Given the description of an element on the screen output the (x, y) to click on. 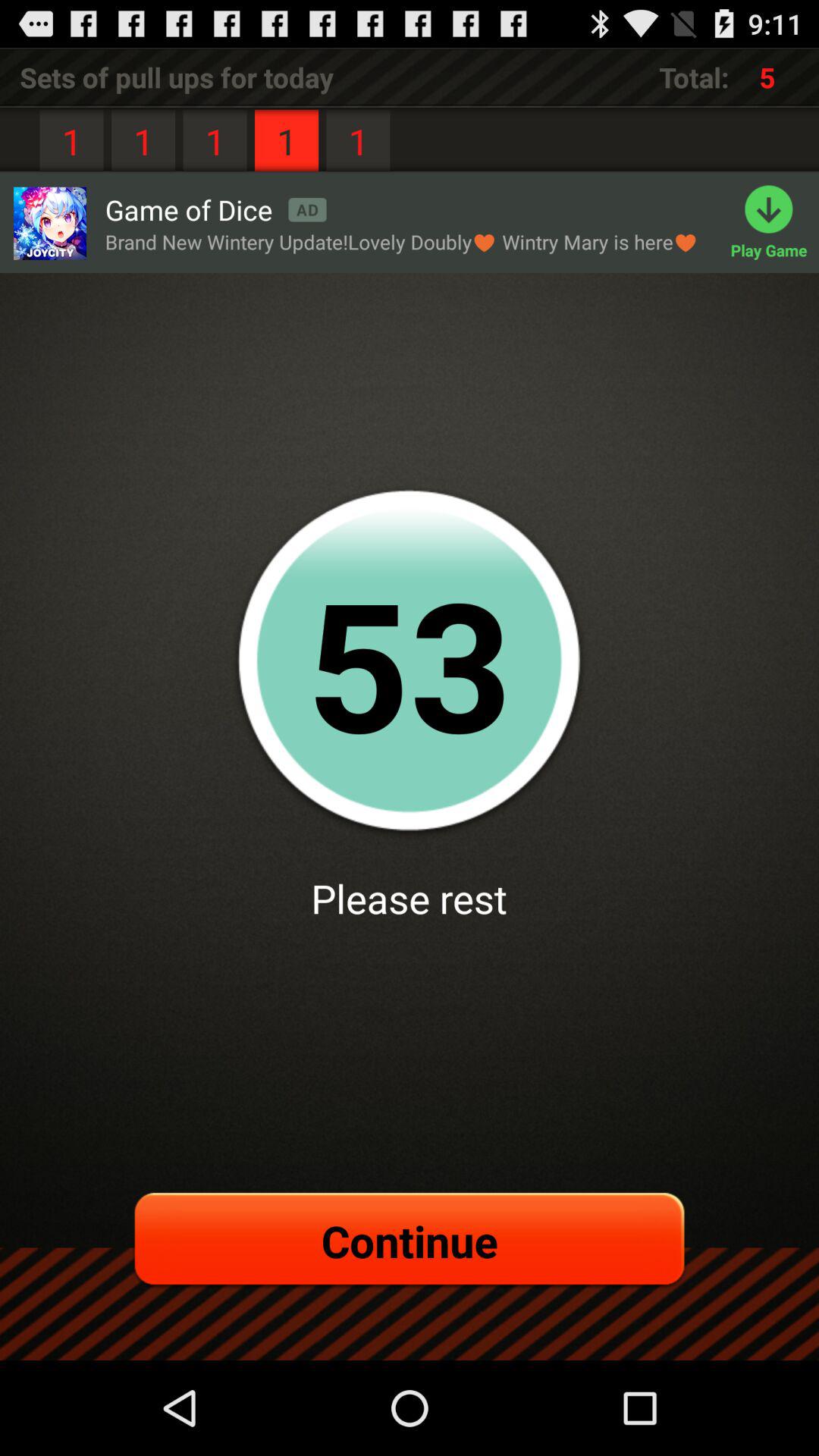
game of dice advertisement (49, 222)
